Given the description of an element on the screen output the (x, y) to click on. 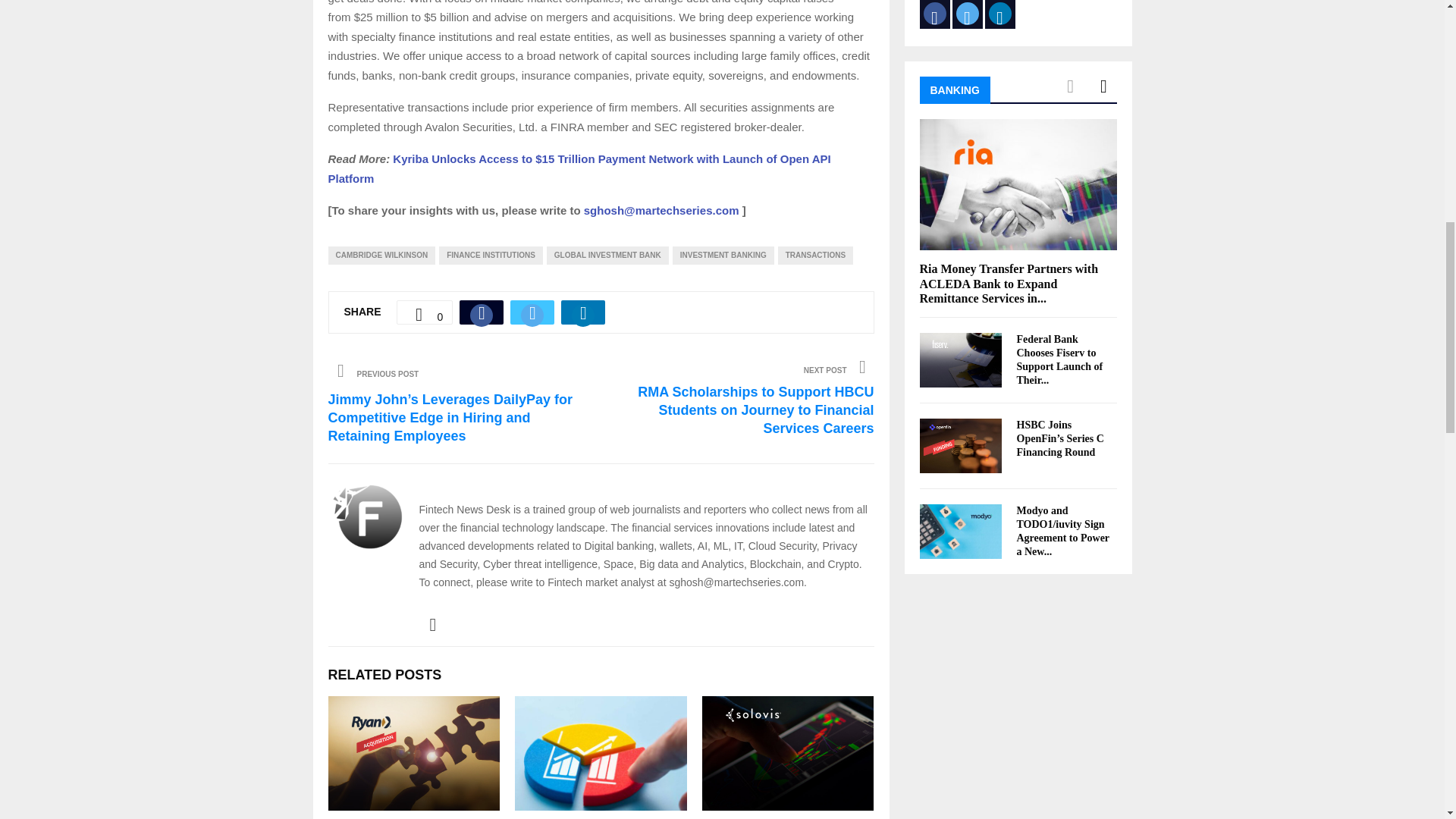
Like (424, 312)
Posts by Fintech News Desk (481, 485)
